Given the description of an element on the screen output the (x, y) to click on. 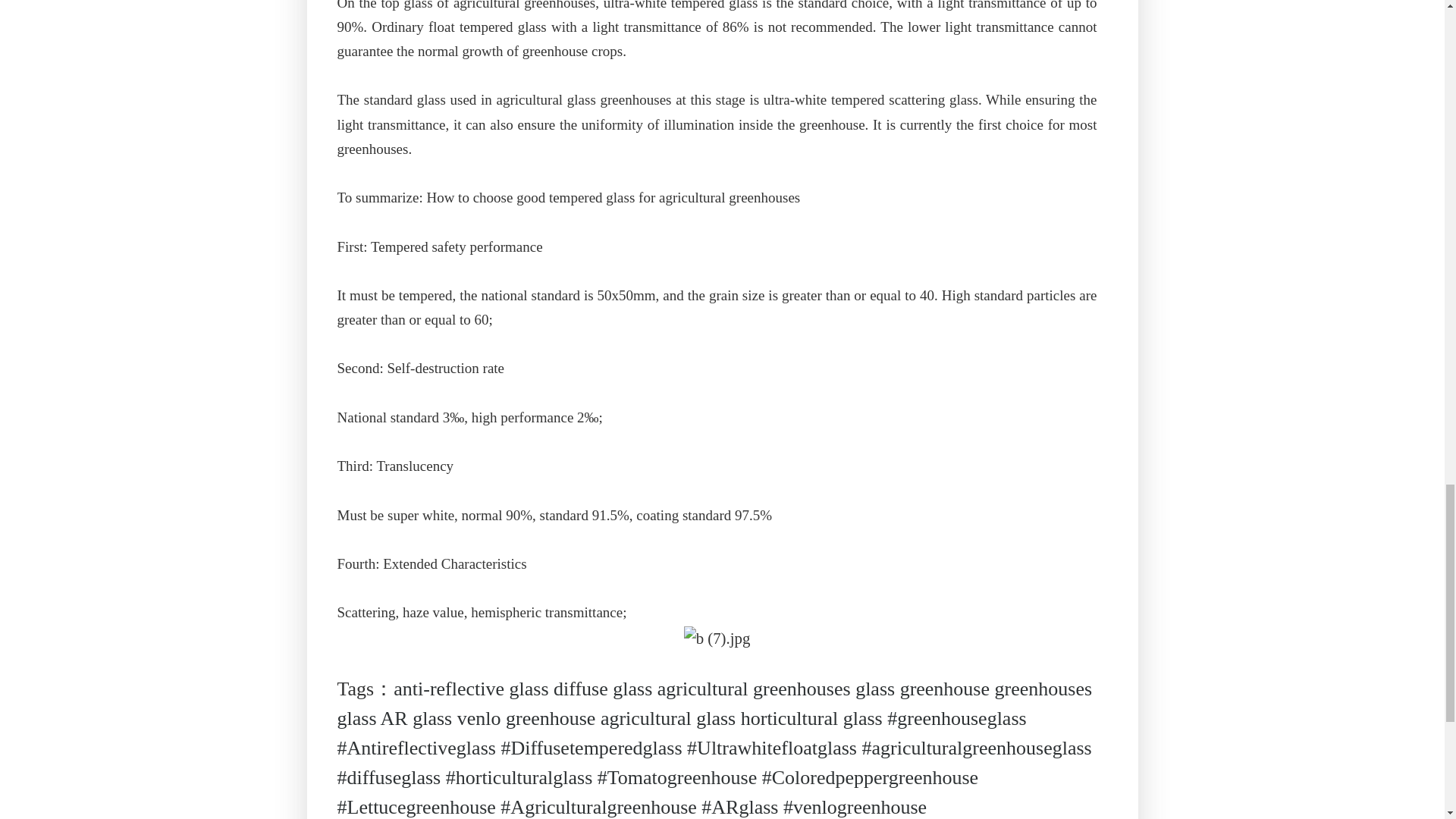
glass greenhouse (923, 689)
anti-reflective glass (470, 689)
agricultural glass (667, 717)
diffuse glass (602, 689)
agricultural greenhouses (754, 689)
AR glass (416, 717)
horticultural glass (811, 717)
venlo greenhouse (526, 717)
greenhouses glass (714, 703)
1719215689193239.jpg (717, 638)
